Given the description of an element on the screen output the (x, y) to click on. 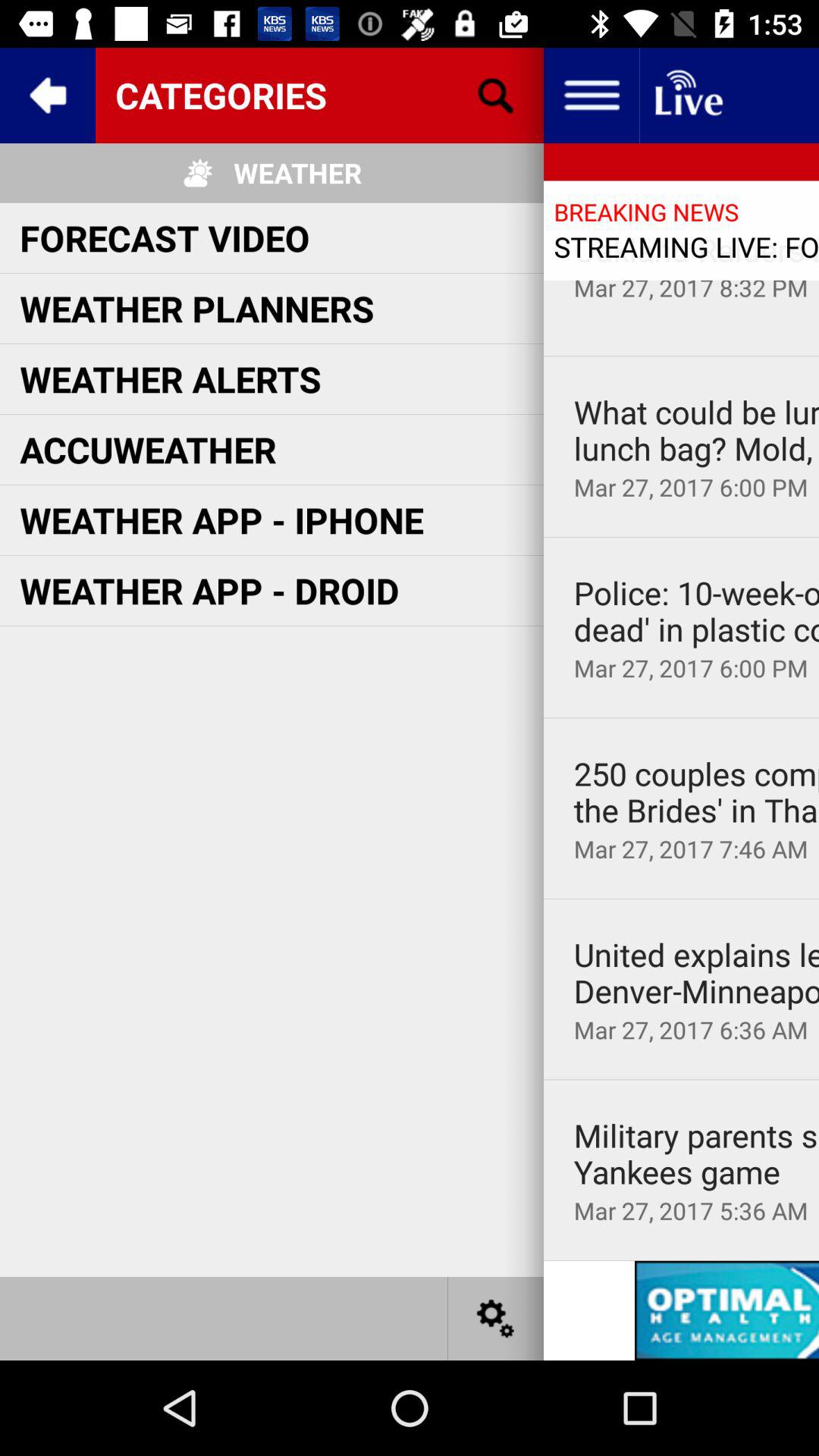
go back (47, 95)
